Given the description of an element on the screen output the (x, y) to click on. 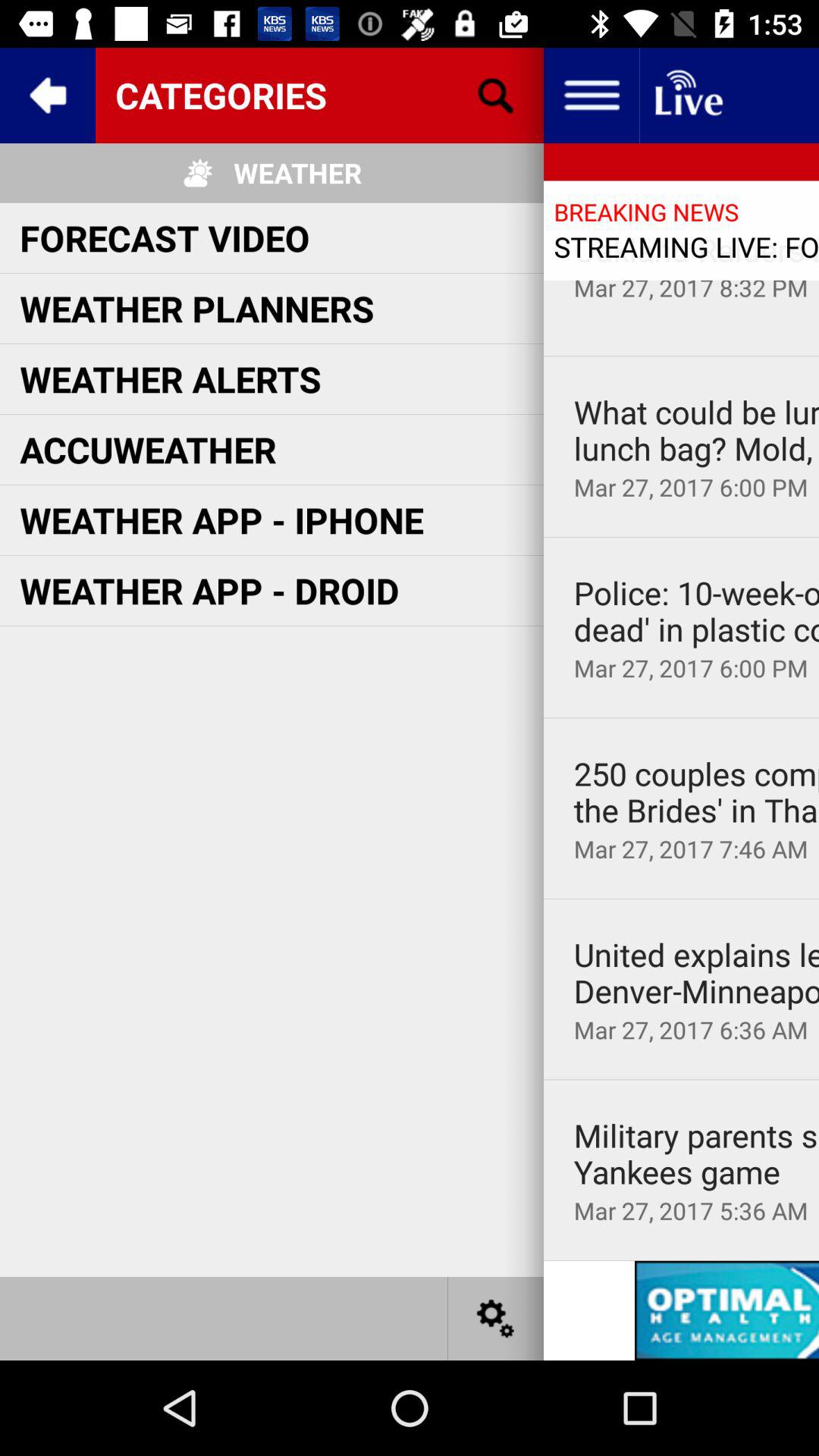
go back (47, 95)
